Given the description of an element on the screen output the (x, y) to click on. 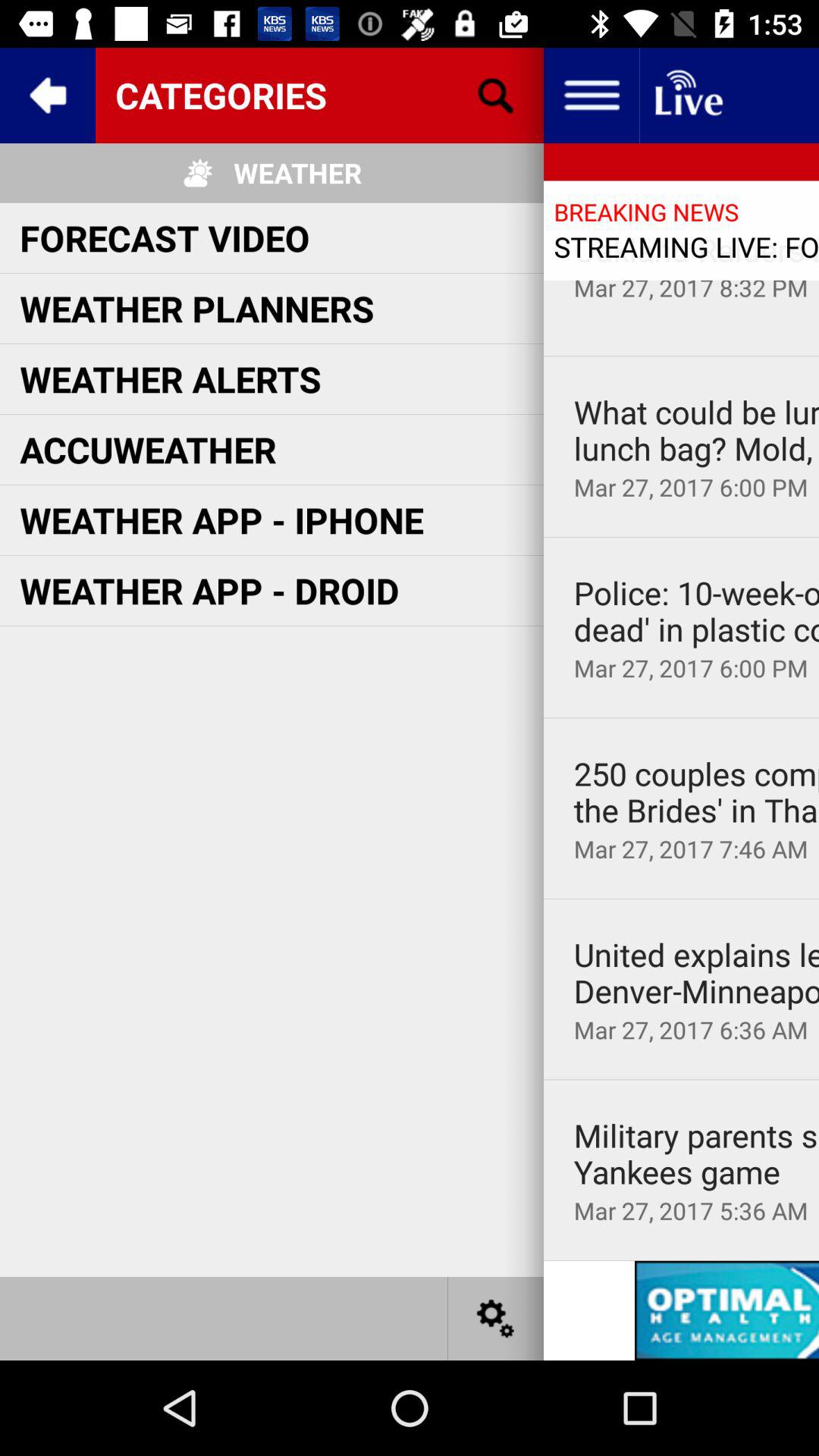
go back (47, 95)
